Given the description of an element on the screen output the (x, y) to click on. 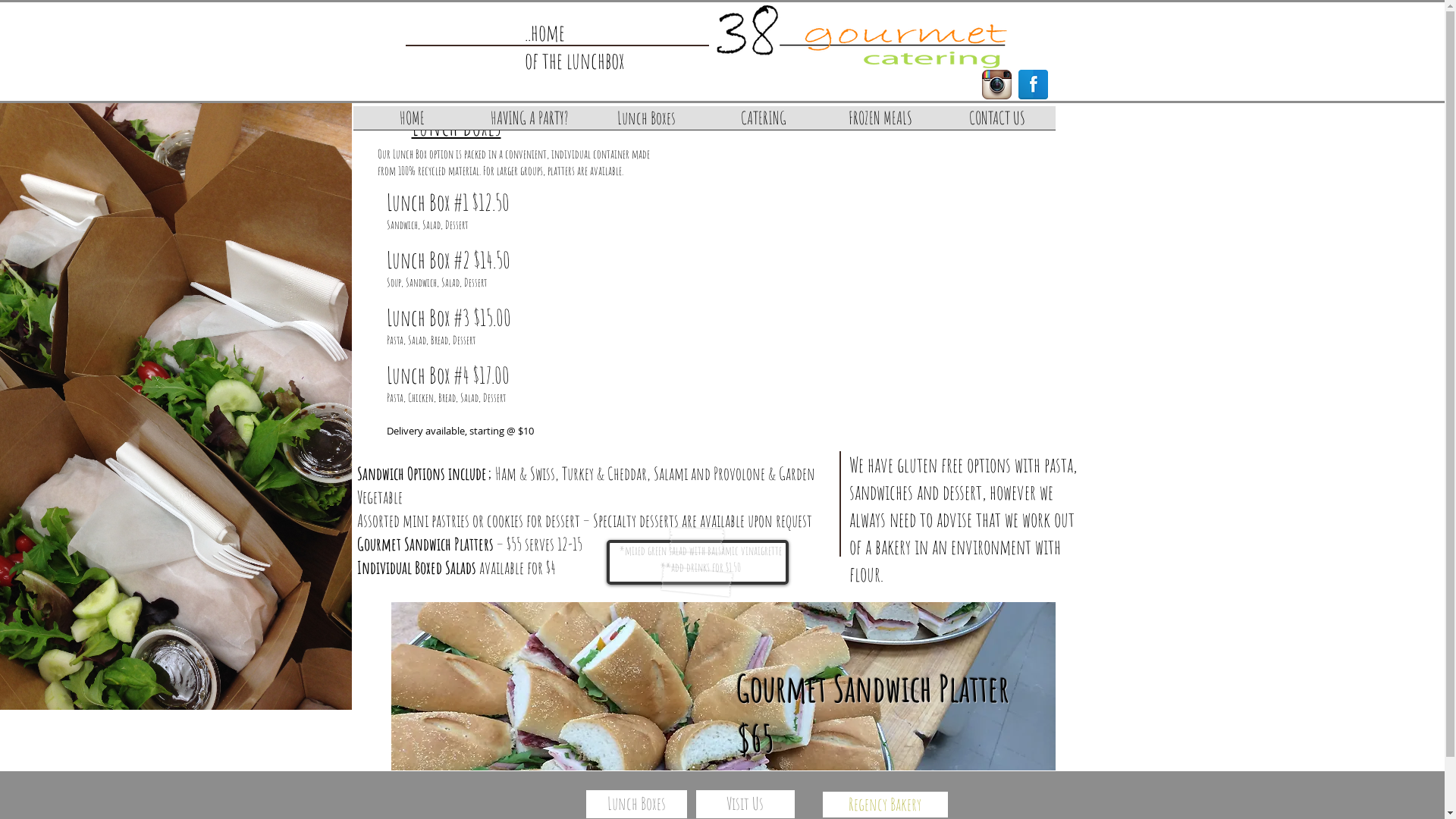
IMG_7596.JPG Element type: hover (723, 686)
FROZEN MEALS Element type: text (880, 122)
Lunch Boxes Element type: text (646, 122)
CONTACT US Element type: text (996, 122)
CATERING Element type: text (763, 122)
Lunch Boxes Element type: text (635, 804)
Visit Us Element type: text (745, 804)
HAVING A PARTY? Element type: text (528, 122)
New 38 Logo - colour.png Element type: hover (860, 36)
HOME Element type: text (411, 122)
